Given the description of an element on the screen output the (x, y) to click on. 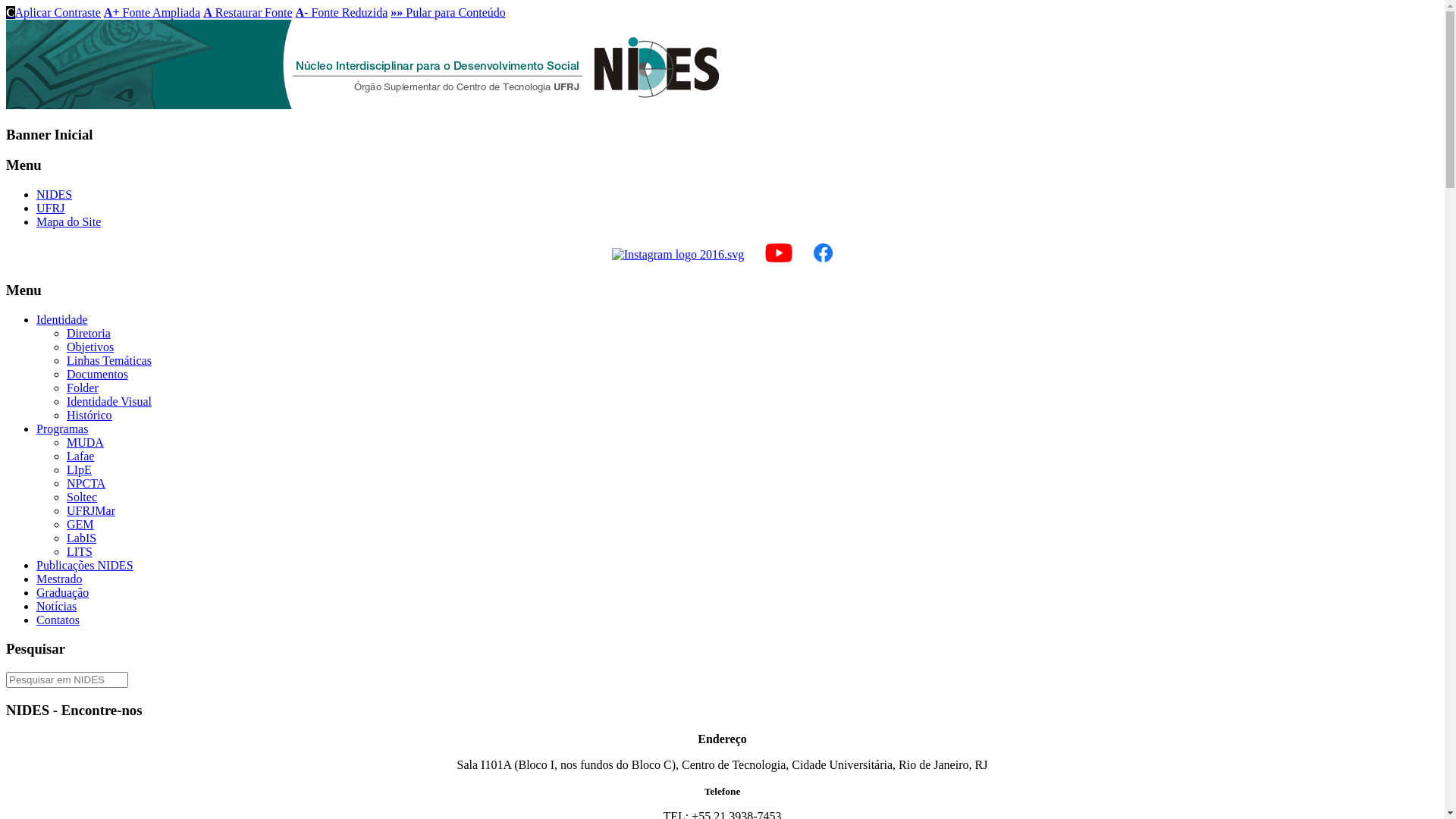
NPCTA Element type: text (85, 482)
LITS Element type: text (79, 551)
GEM Element type: text (80, 523)
MUDA Element type: text (84, 442)
Soltec Element type: text (81, 496)
LIpE Element type: text (78, 469)
A Restaurar Fonte Element type: text (247, 12)
Mapa do Site Element type: text (68, 221)
LabIS Element type: text (81, 537)
NIDES Element type: text (54, 194)
Documentos Element type: text (97, 373)
Objetivos Element type: text (89, 346)
Diretoria Element type: text (88, 332)
A- Fonte Reduzida Element type: text (341, 12)
UFRJMar Element type: text (90, 510)
CAplicar Contraste Element type: text (53, 12)
UFRJ Element type: text (50, 207)
A+ Fonte Ampliada Element type: text (151, 12)
Identidade Element type: text (61, 319)
Mestrado Element type: text (58, 578)
Programas Element type: text (61, 428)
Identidade Visual Element type: text (108, 401)
Folder Element type: text (82, 387)
Lafae Element type: text (80, 455)
Contatos Element type: text (57, 619)
